Given the description of an element on the screen output the (x, y) to click on. 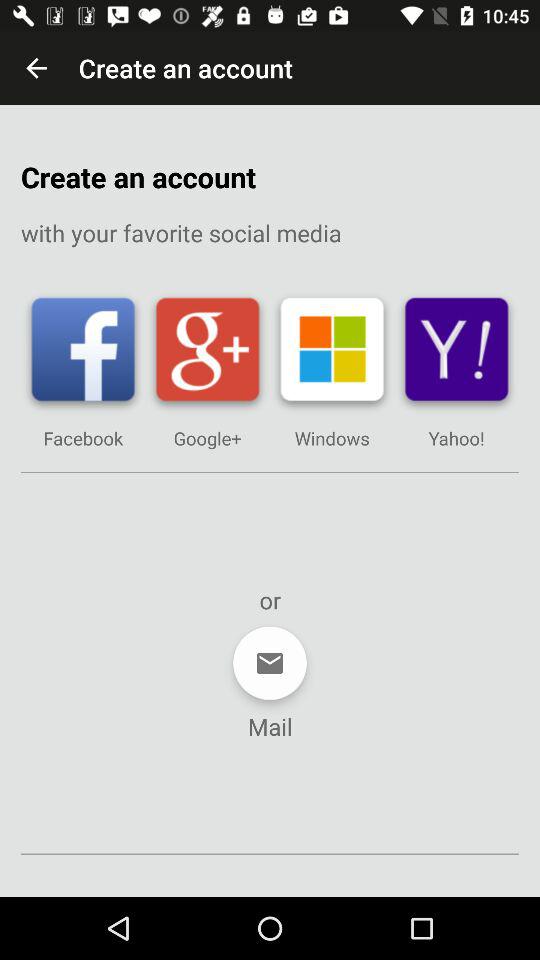
click the item to the left of the create an account item (36, 68)
